Given the description of an element on the screen output the (x, y) to click on. 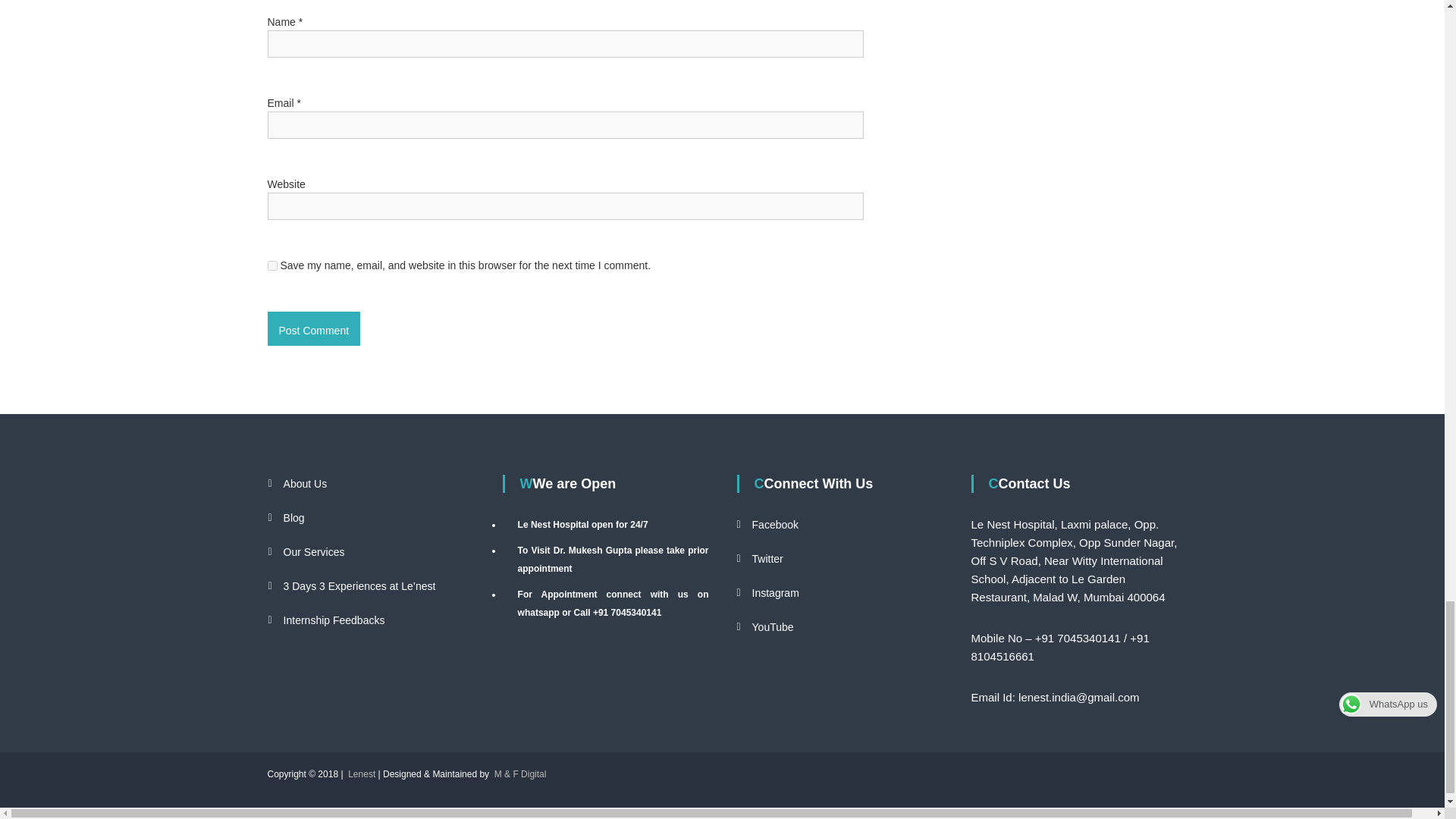
Post Comment (312, 328)
yes (271, 266)
